Given the description of an element on the screen output the (x, y) to click on. 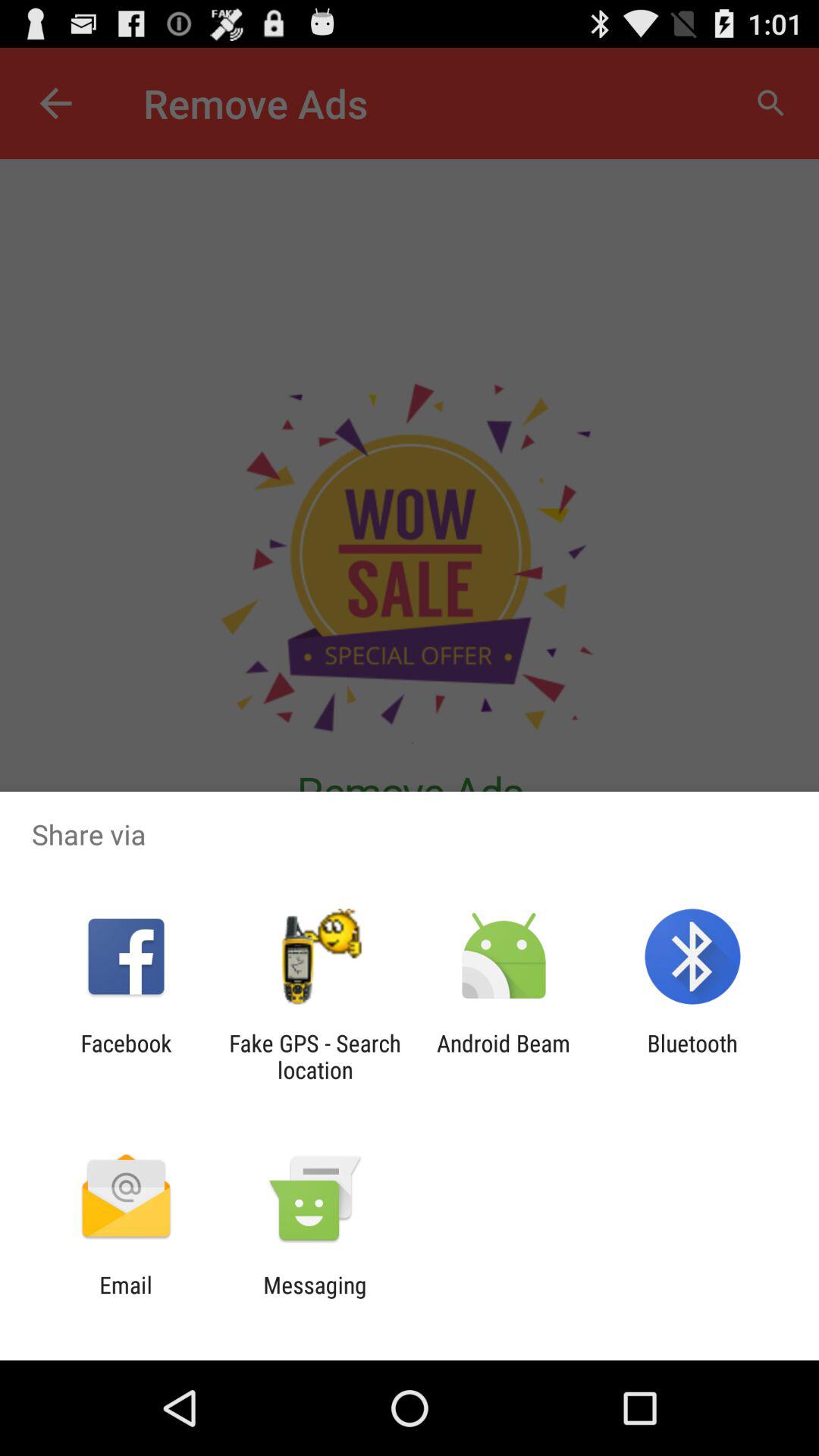
swipe to android beam item (503, 1056)
